Given the description of an element on the screen output the (x, y) to click on. 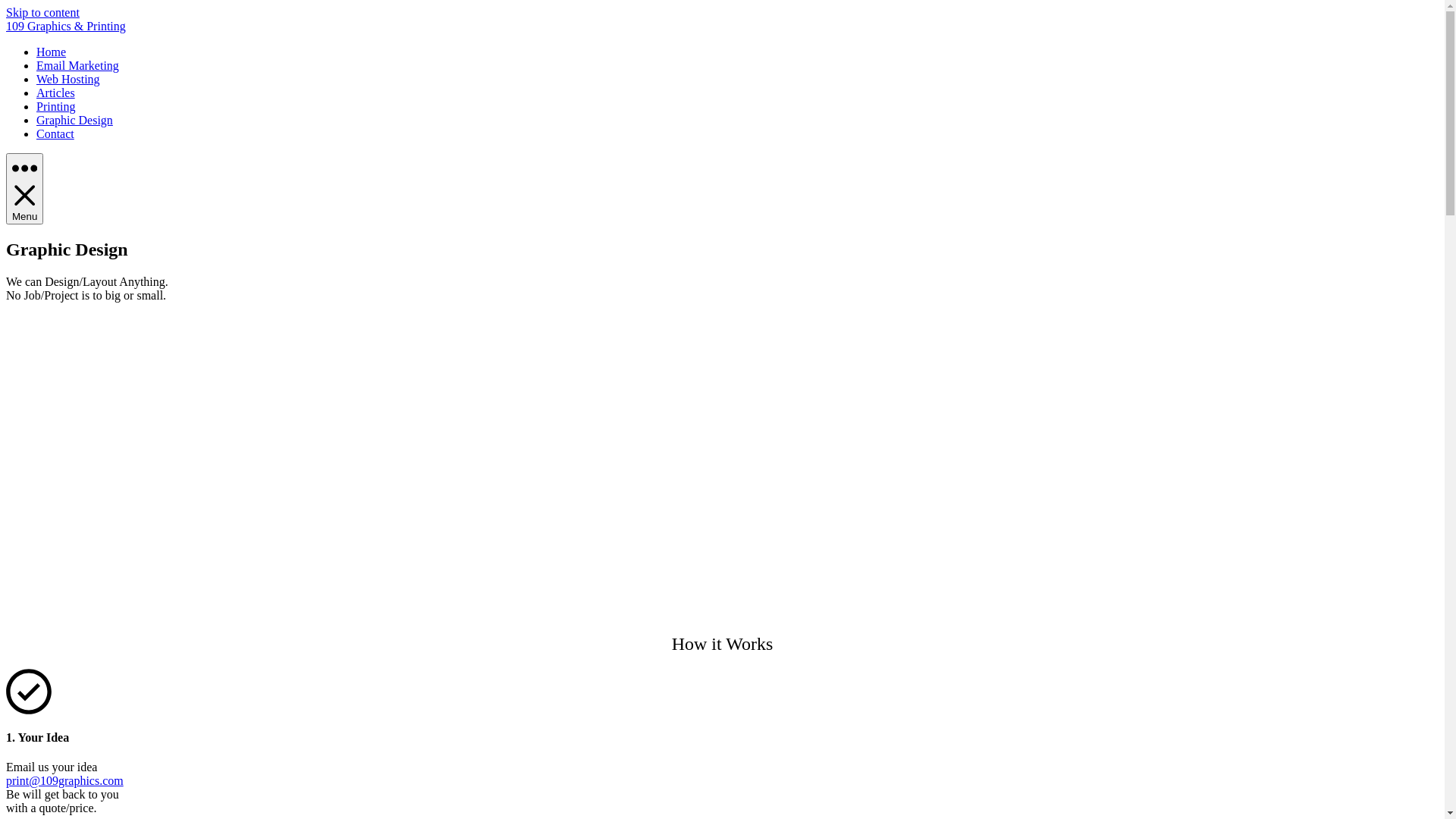
Printing Element type: text (55, 106)
Email Marketing Element type: text (77, 65)
Menu Element type: text (24, 188)
Home Element type: text (50, 51)
print@109graphics.com Element type: text (64, 780)
Articles Element type: text (55, 92)
109 Graphics & Printing Element type: text (65, 25)
Graphic Design Element type: text (74, 119)
Skip to content Element type: text (42, 12)
Web Hosting Element type: text (68, 78)
Contact Element type: text (55, 133)
